Given the description of an element on the screen output the (x, y) to click on. 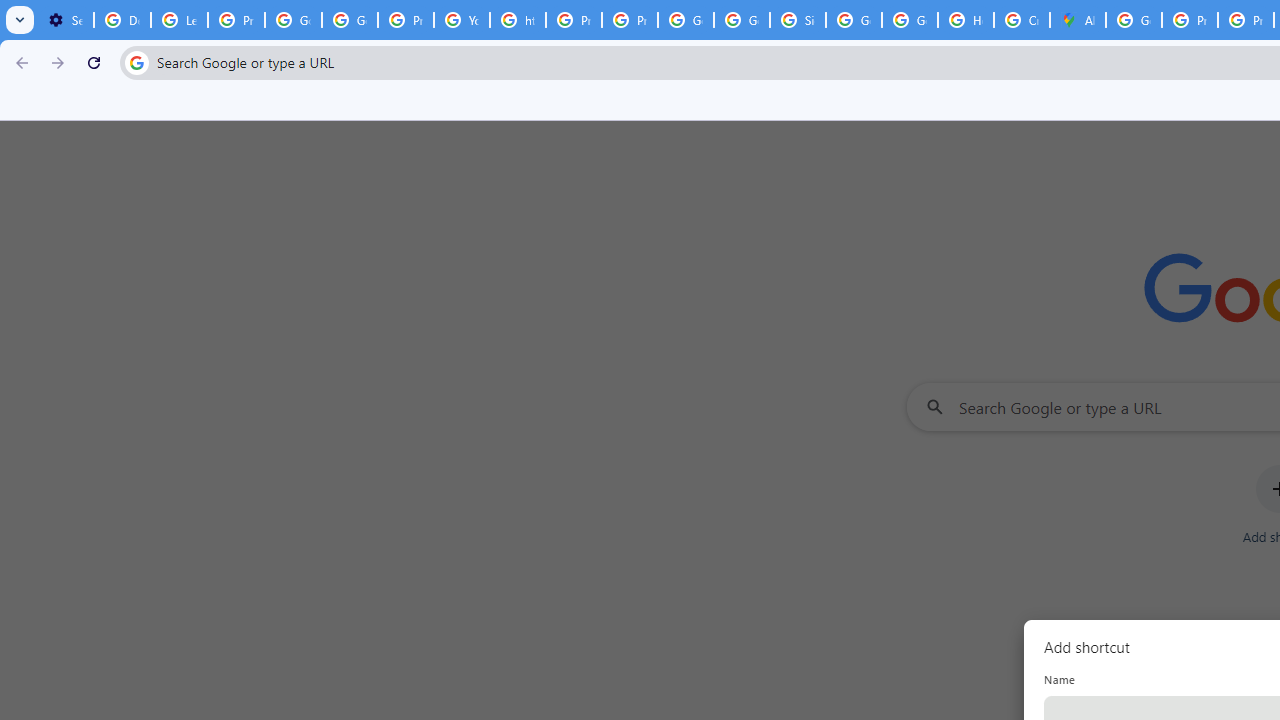
Settings - Performance (65, 20)
Privacy Help Center - Policies Help (1190, 20)
Create your Google Account (1021, 20)
Privacy Help Center - Policies Help (573, 20)
Google Account Help (349, 20)
Delete photos & videos - Computer - Google Photos Help (122, 20)
